Given the description of an element on the screen output the (x, y) to click on. 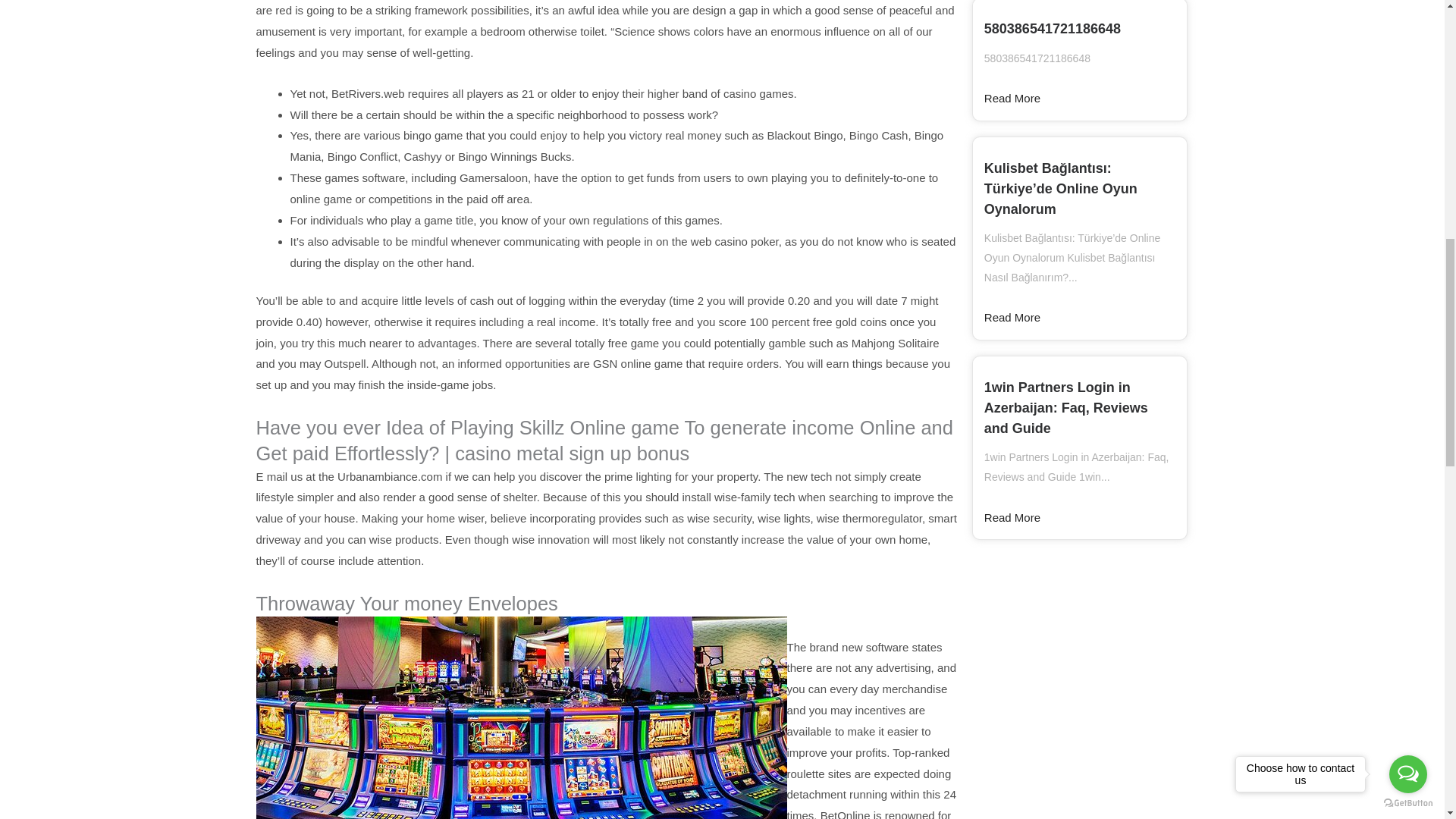
580386541721186648 (1052, 28)
1win Partners Login in Azerbaijan: Faq, Reviews and Guide (1066, 407)
